Given the description of an element on the screen output the (x, y) to click on. 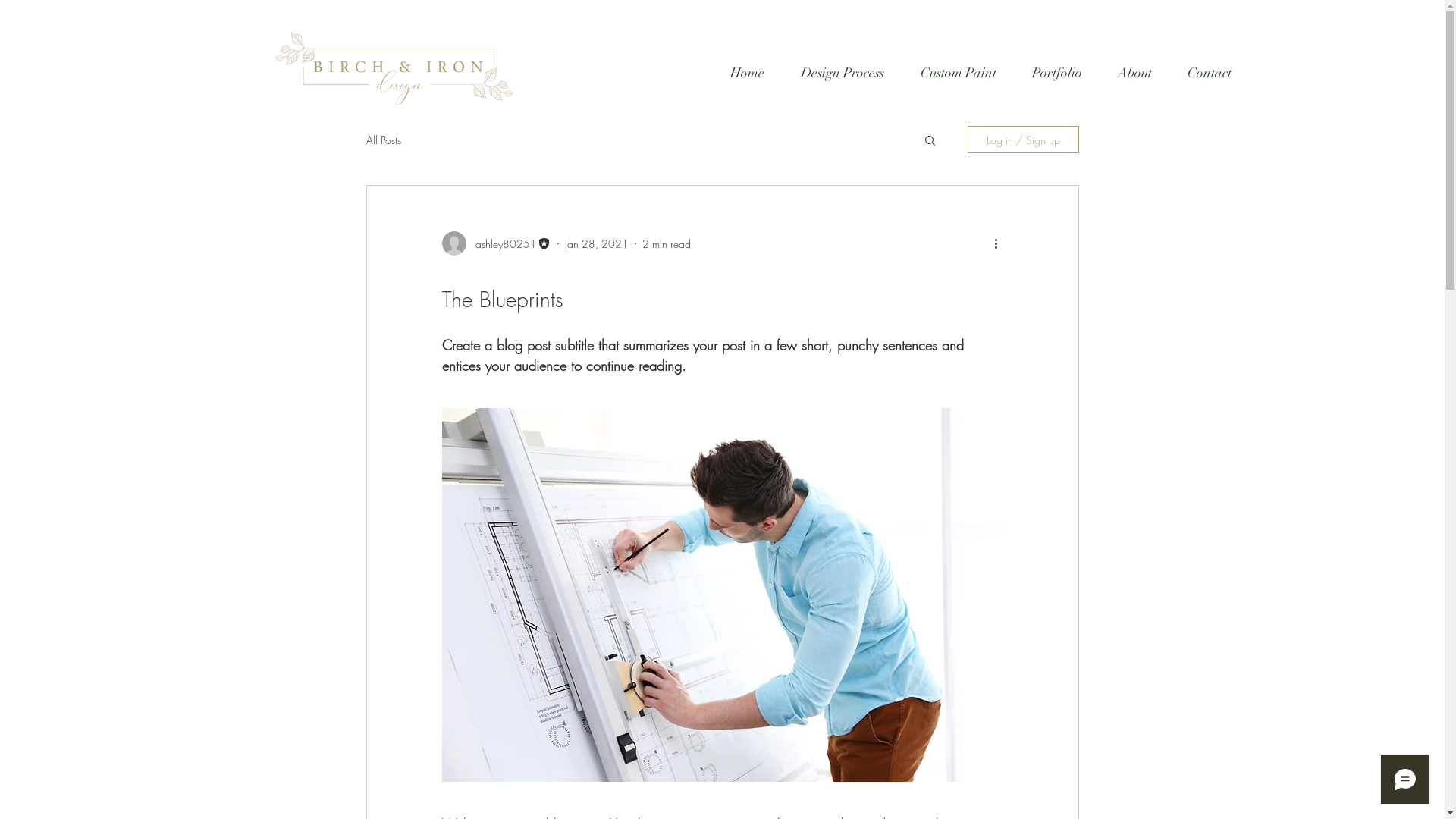
Log in / Sign up Element type: text (1023, 139)
Contact Element type: text (1208, 72)
Custom Paint Element type: text (957, 72)
Design Process Element type: text (842, 72)
All Posts Element type: text (382, 138)
About Element type: text (1134, 72)
Portfolio Element type: text (1056, 72)
Home Element type: text (747, 72)
